Given the description of an element on the screen output the (x, y) to click on. 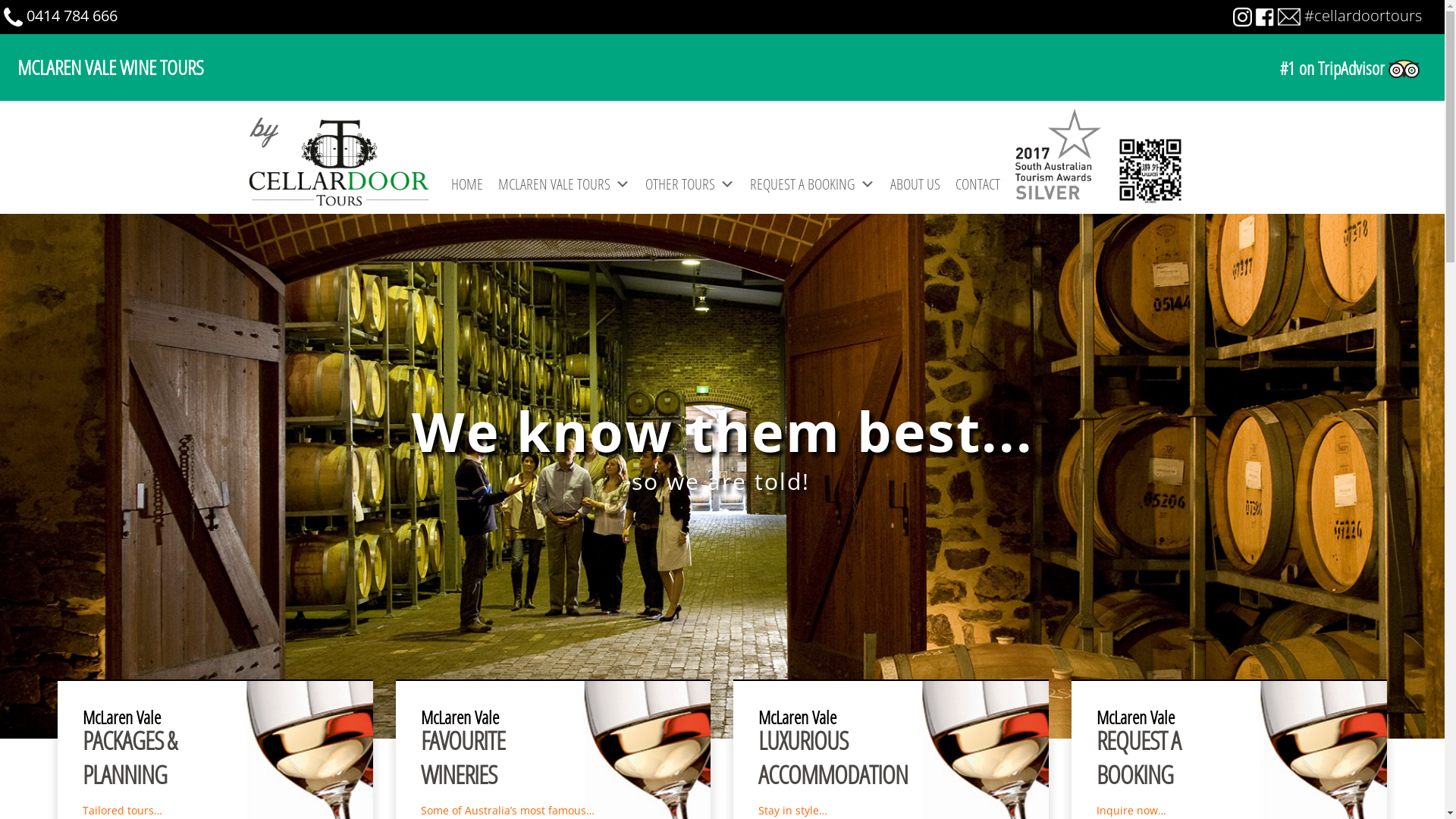
OTHER TOURS Element type: text (689, 184)
MCLAREN VALE TOURS Element type: text (563, 184)
HOME Element type: text (466, 184)
REQUEST A BOOKING Element type: text (812, 184)
ABOUT US Element type: text (914, 184)
0414 784 666 Element type: text (71, 15)
#1 on TripAdvisor Element type: text (1079, 68)
CONTACT Element type: text (977, 184)
